Given the description of an element on the screen output the (x, y) to click on. 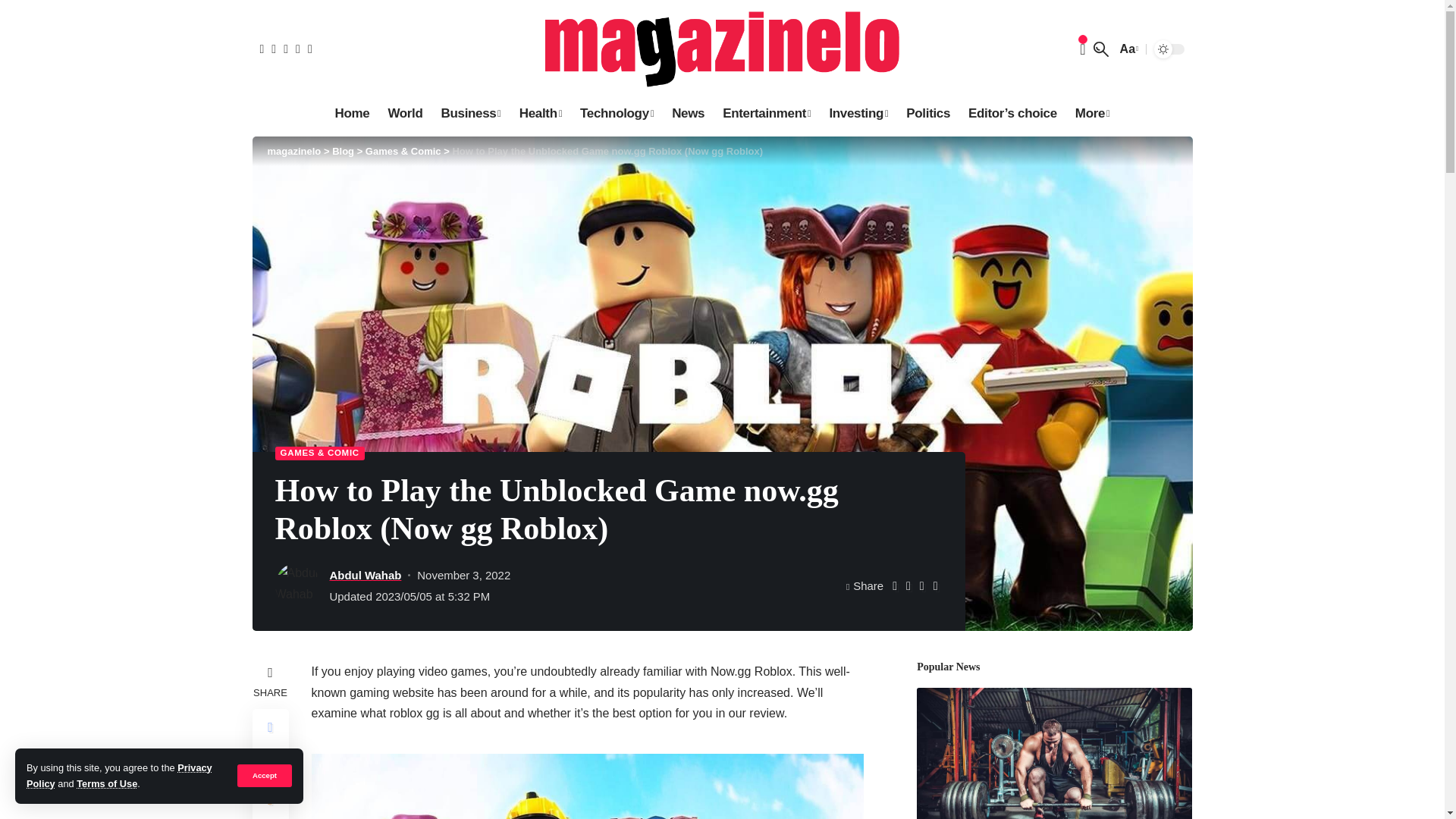
Privacy Policy (119, 775)
Health (540, 113)
Business (471, 113)
Accept (264, 775)
Home (352, 113)
Terms of Use (106, 783)
Aa (1127, 48)
Technology (616, 113)
Go to Blog. (342, 151)
Go to magazinelo. (293, 151)
World (404, 113)
News (687, 113)
Entertainment (766, 113)
magazinelo (721, 48)
